Given the description of an element on the screen output the (x, y) to click on. 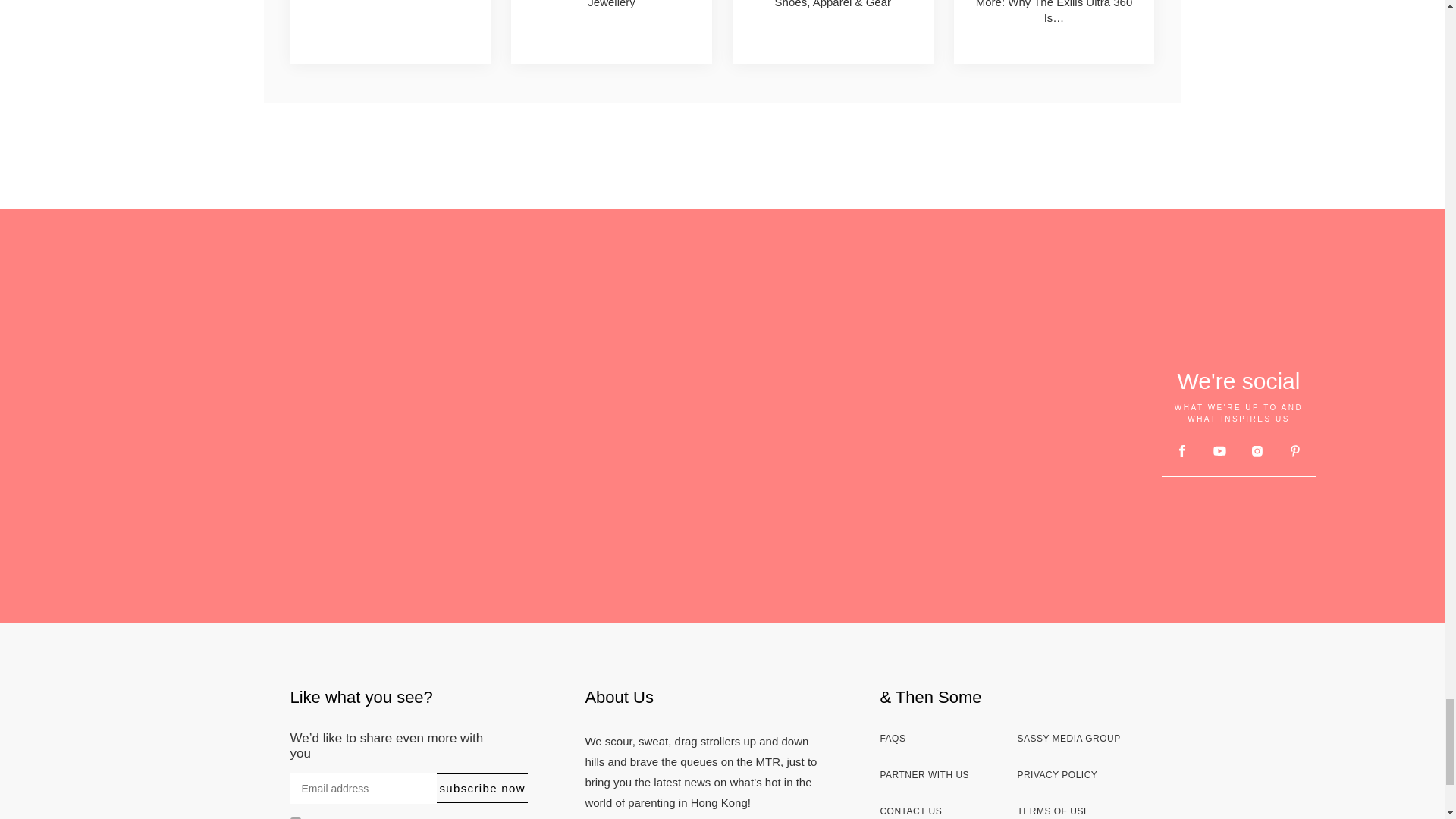
subscribe now (481, 788)
